Given the description of an element on the screen output the (x, y) to click on. 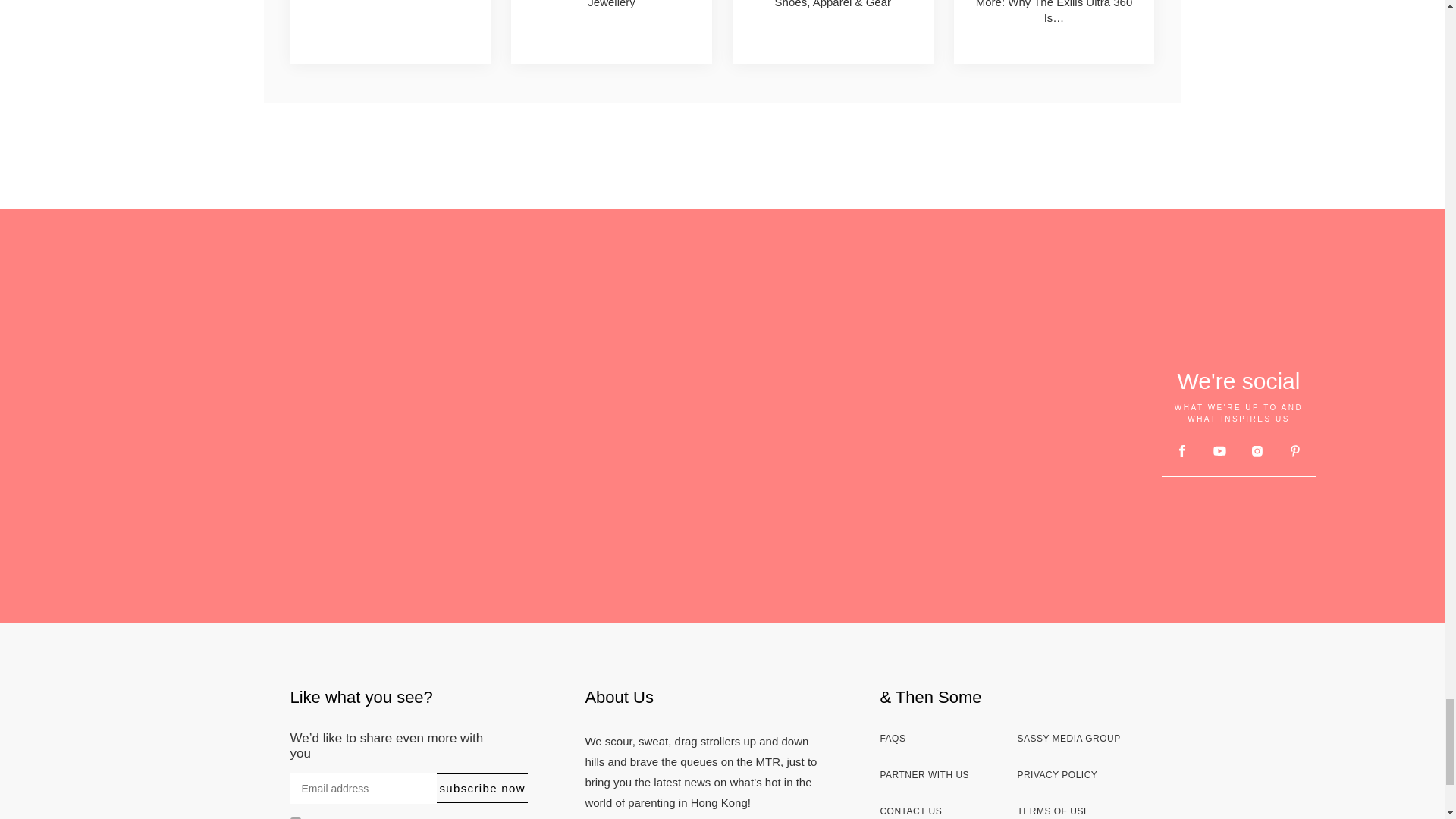
subscribe now (481, 788)
